Given the description of an element on the screen output the (x, y) to click on. 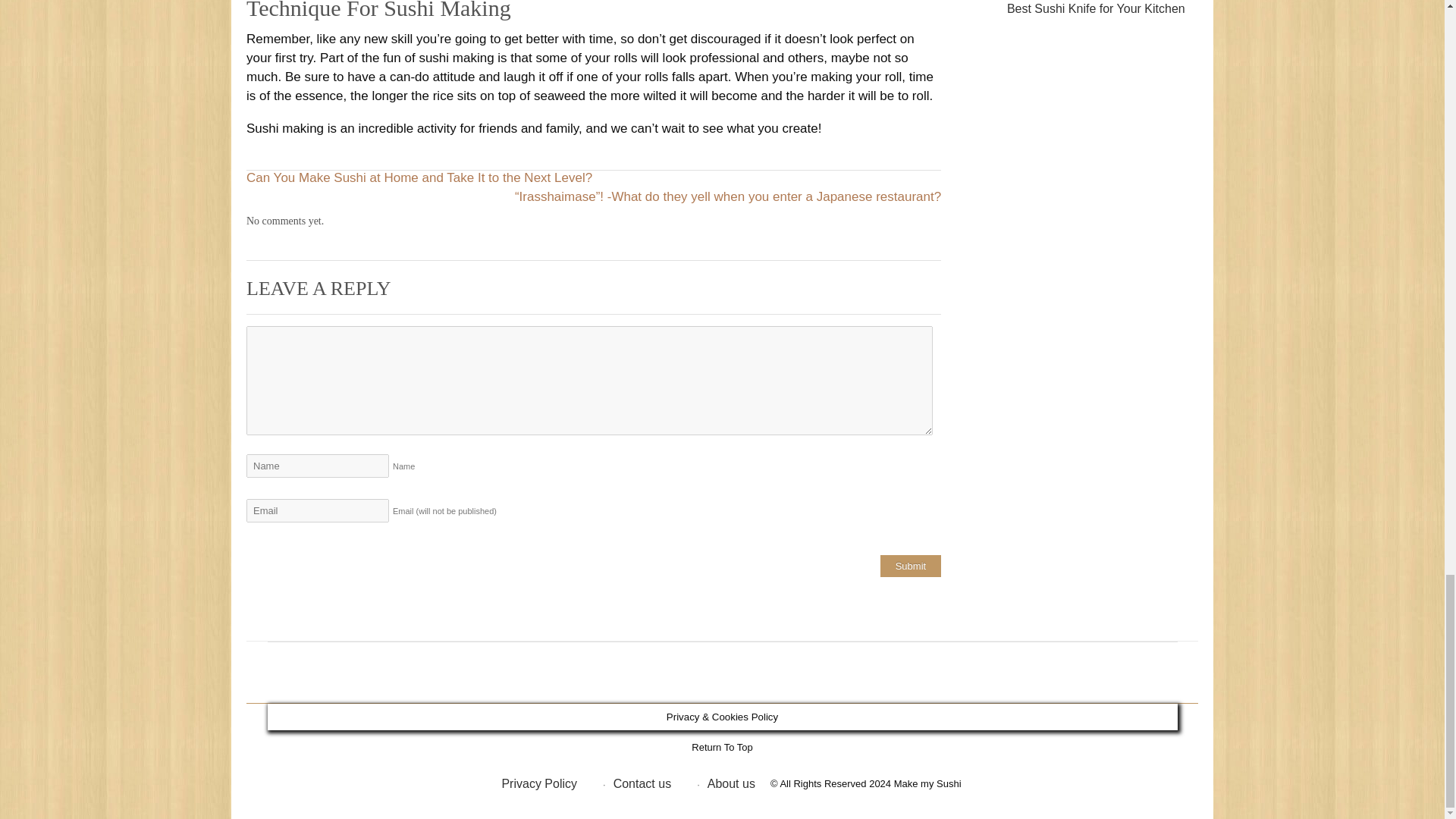
Submit (910, 566)
Submit (910, 566)
Can You Make Sushi at Home and Take It to the Next Level? (419, 177)
